Given the description of an element on the screen output the (x, y) to click on. 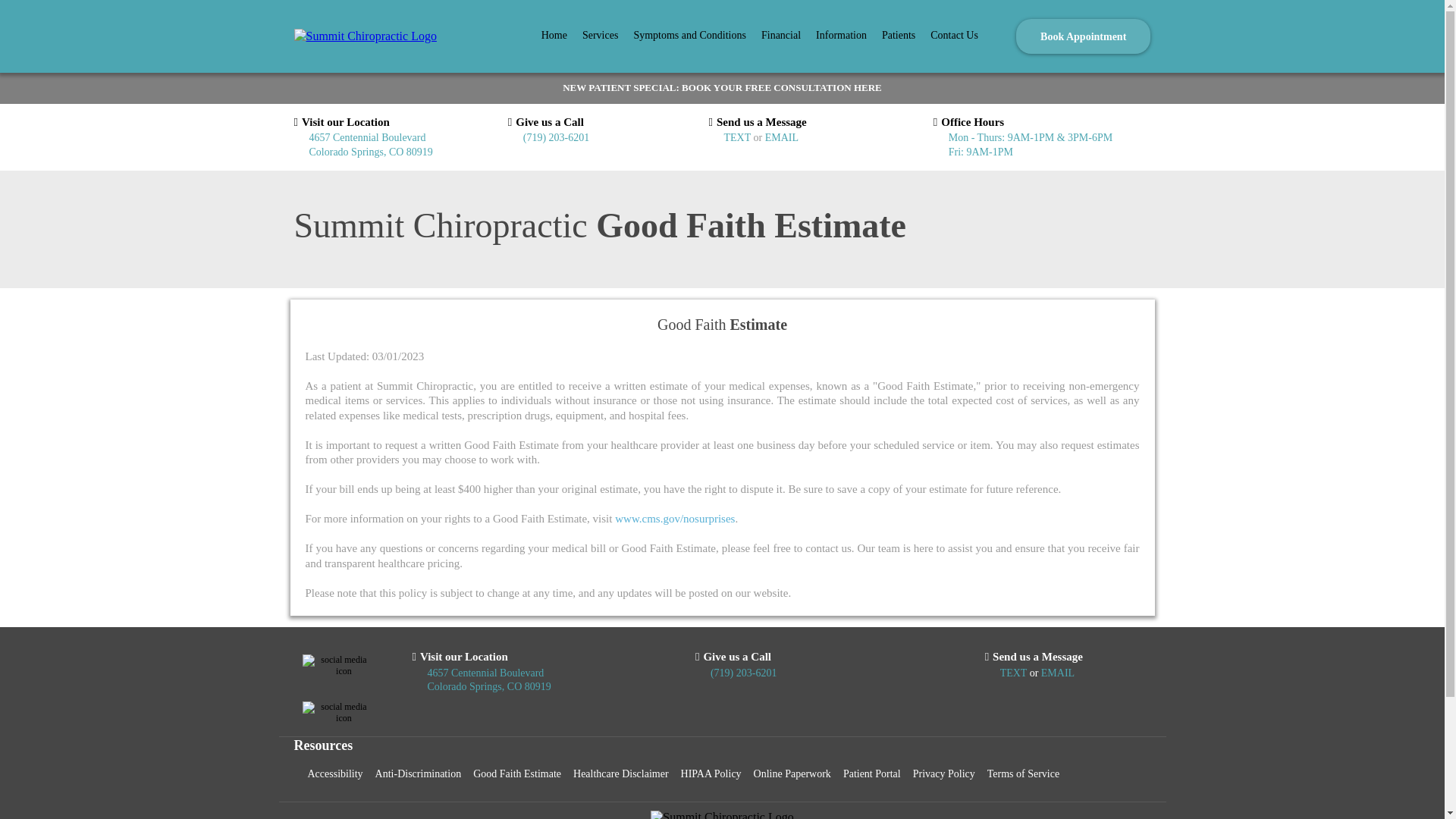
Financial (781, 35)
Patients (899, 35)
Home (554, 35)
TEXT (737, 137)
Services (600, 35)
EMAIL (1057, 672)
Anti-Discrimination (418, 774)
Healthcare Disclaimer (621, 774)
HIPAA Policy (711, 774)
EMAIL (781, 137)
Book Appointment (1083, 36)
Good Faith Estimate (517, 774)
Information (841, 35)
TEXT (1014, 672)
Contact Us (954, 35)
